Given the description of an element on the screen output the (x, y) to click on. 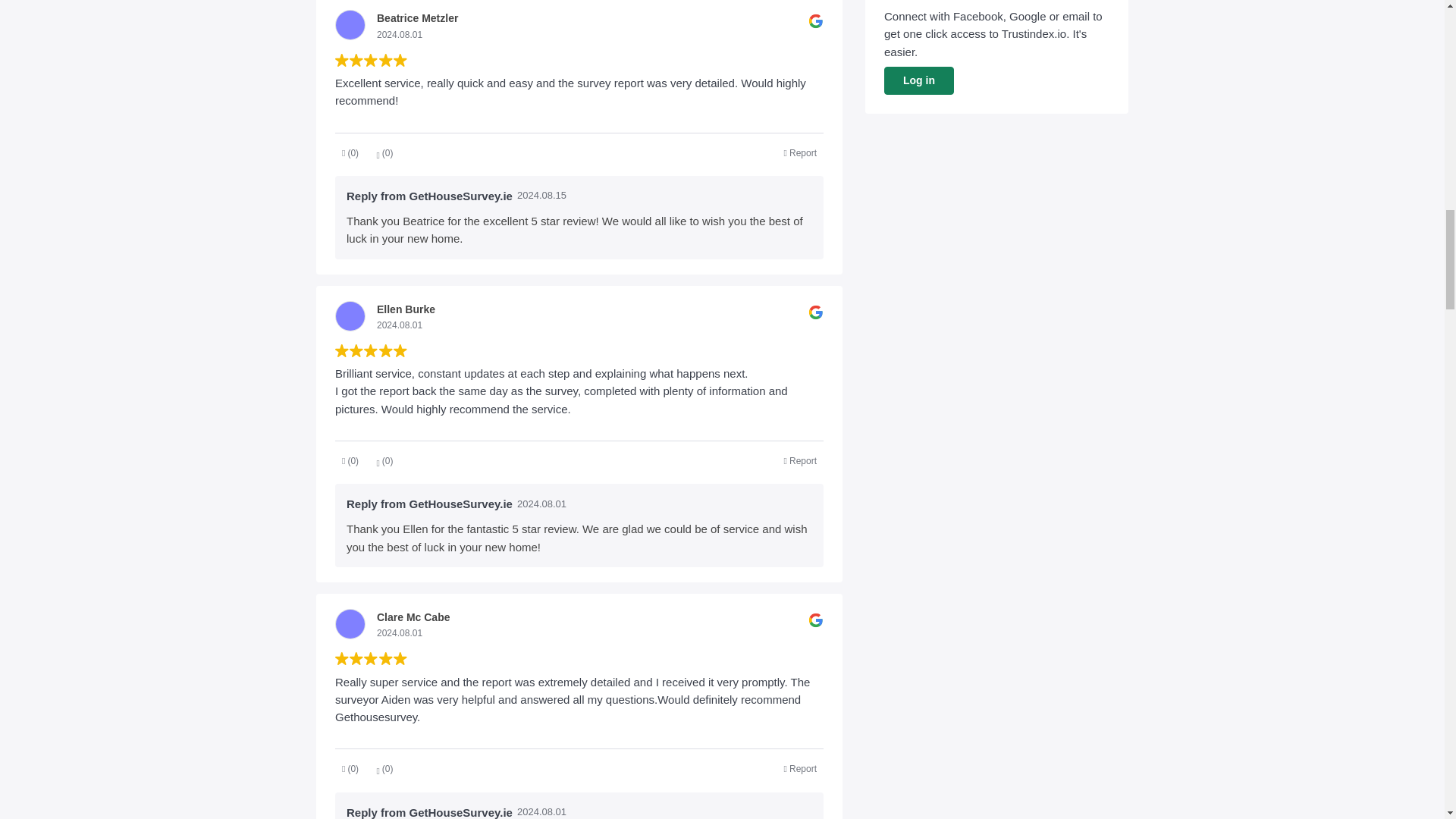
Report (800, 769)
Report (800, 461)
Report (800, 153)
